Given the description of an element on the screen output the (x, y) to click on. 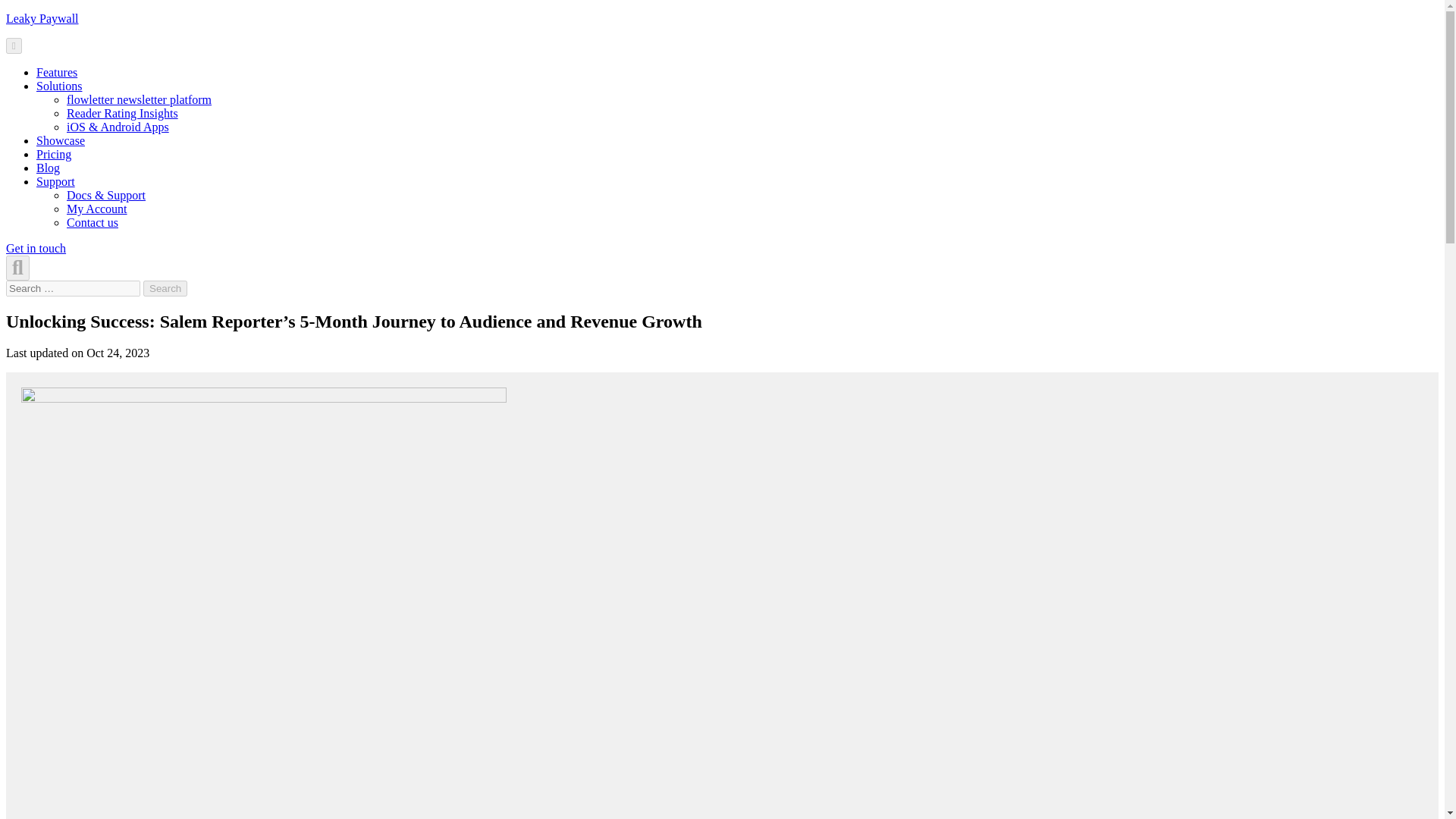
Support (55, 181)
Contact us (91, 222)
Search (164, 288)
Search (164, 288)
Showcase (60, 140)
Reader Rating Insights (121, 113)
Features (56, 72)
flowletter newsletter platform (138, 99)
Solutions (58, 85)
Leaky Paywall (41, 18)
Pricing (53, 154)
Get in touch (35, 247)
Search (164, 288)
Blog (47, 167)
